Given the description of an element on the screen output the (x, y) to click on. 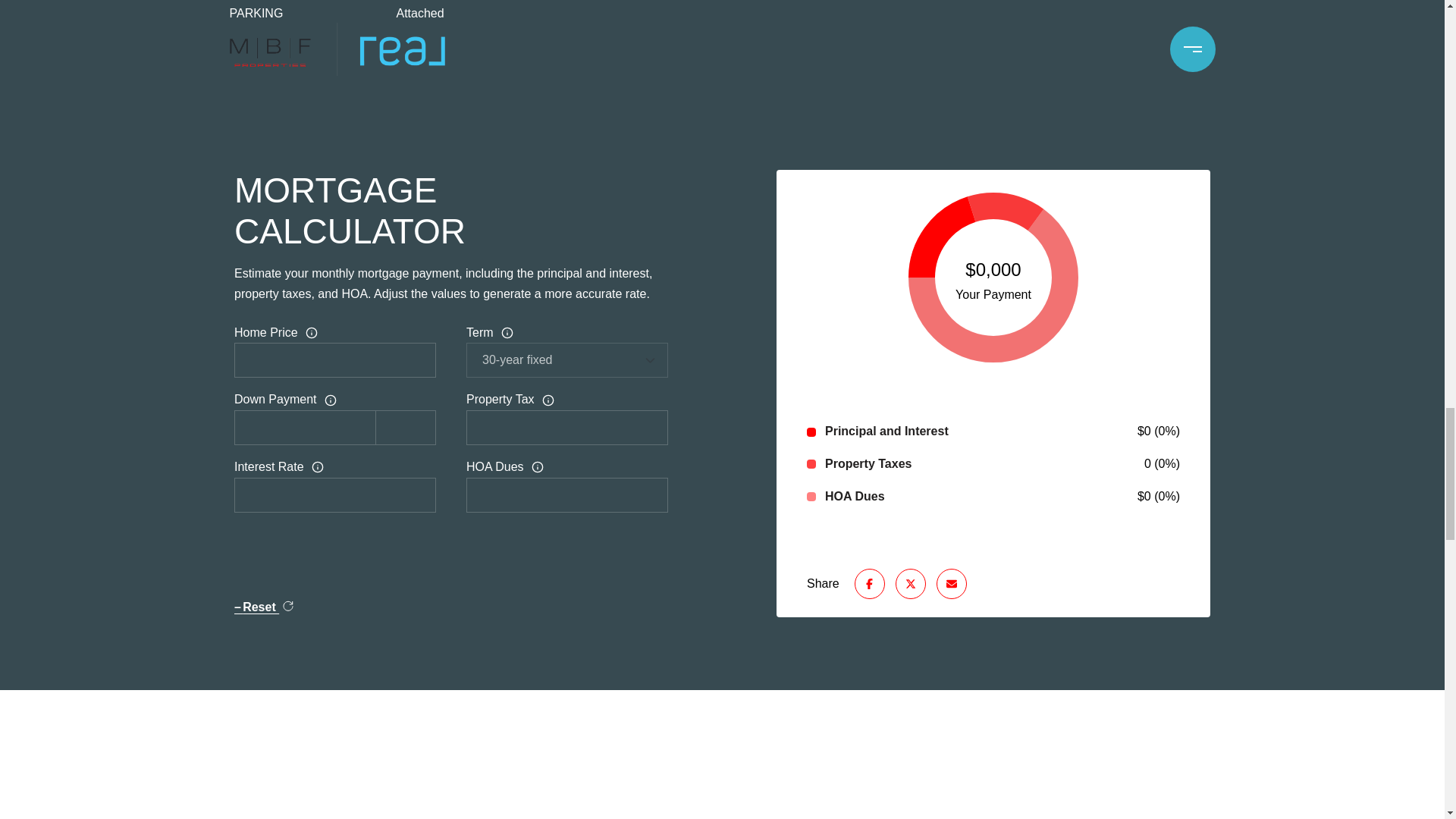
Principal and Interest (887, 431)
Reset (264, 606)
